Given the description of an element on the screen output the (x, y) to click on. 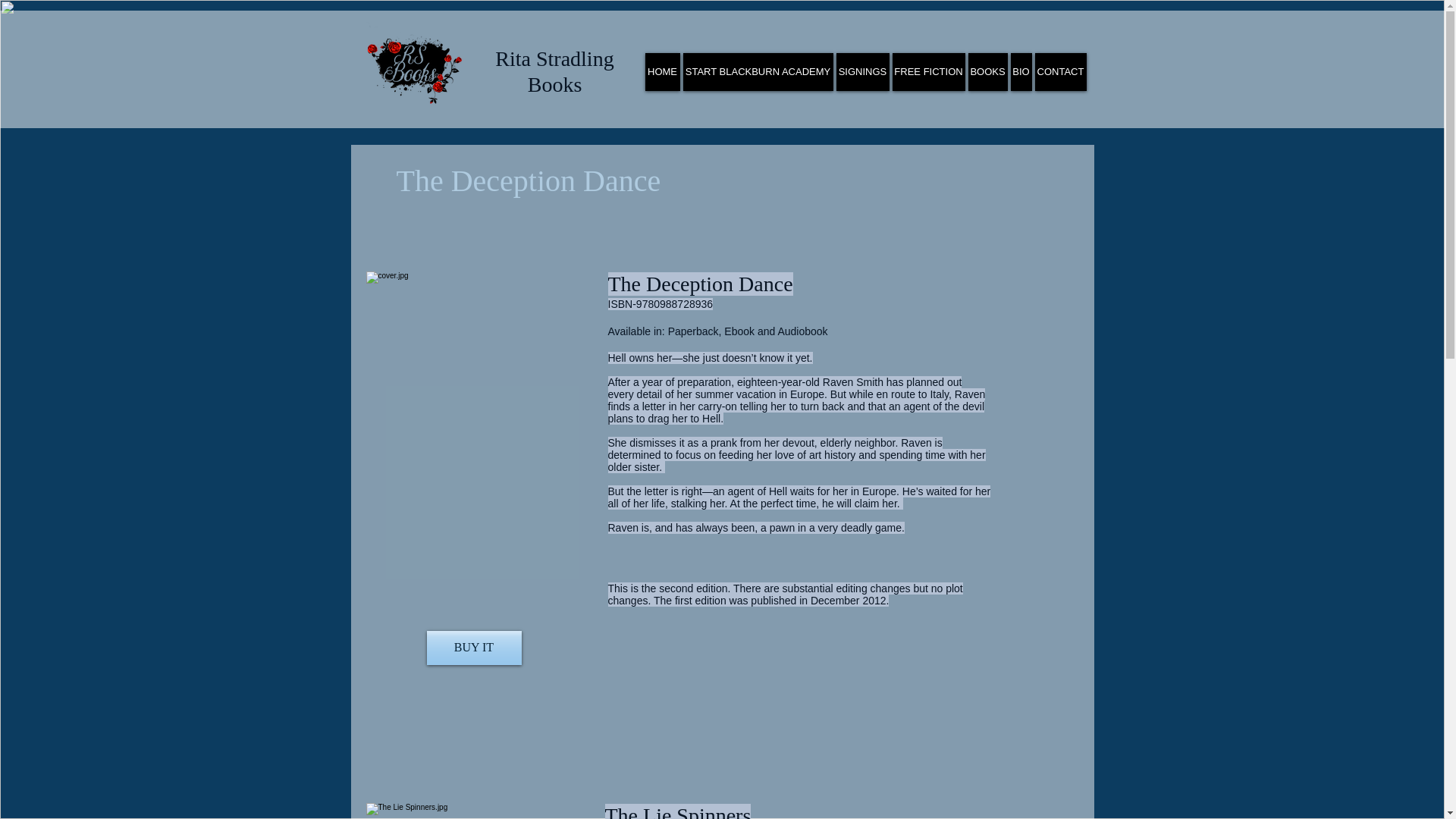
START BLACKBURN ACADEMY (757, 71)
FREE FICTION (927, 71)
SIGNINGS (861, 71)
CONTACT (1059, 71)
BUY IT (473, 647)
HOME (662, 71)
